Given the description of an element on the screen output the (x, y) to click on. 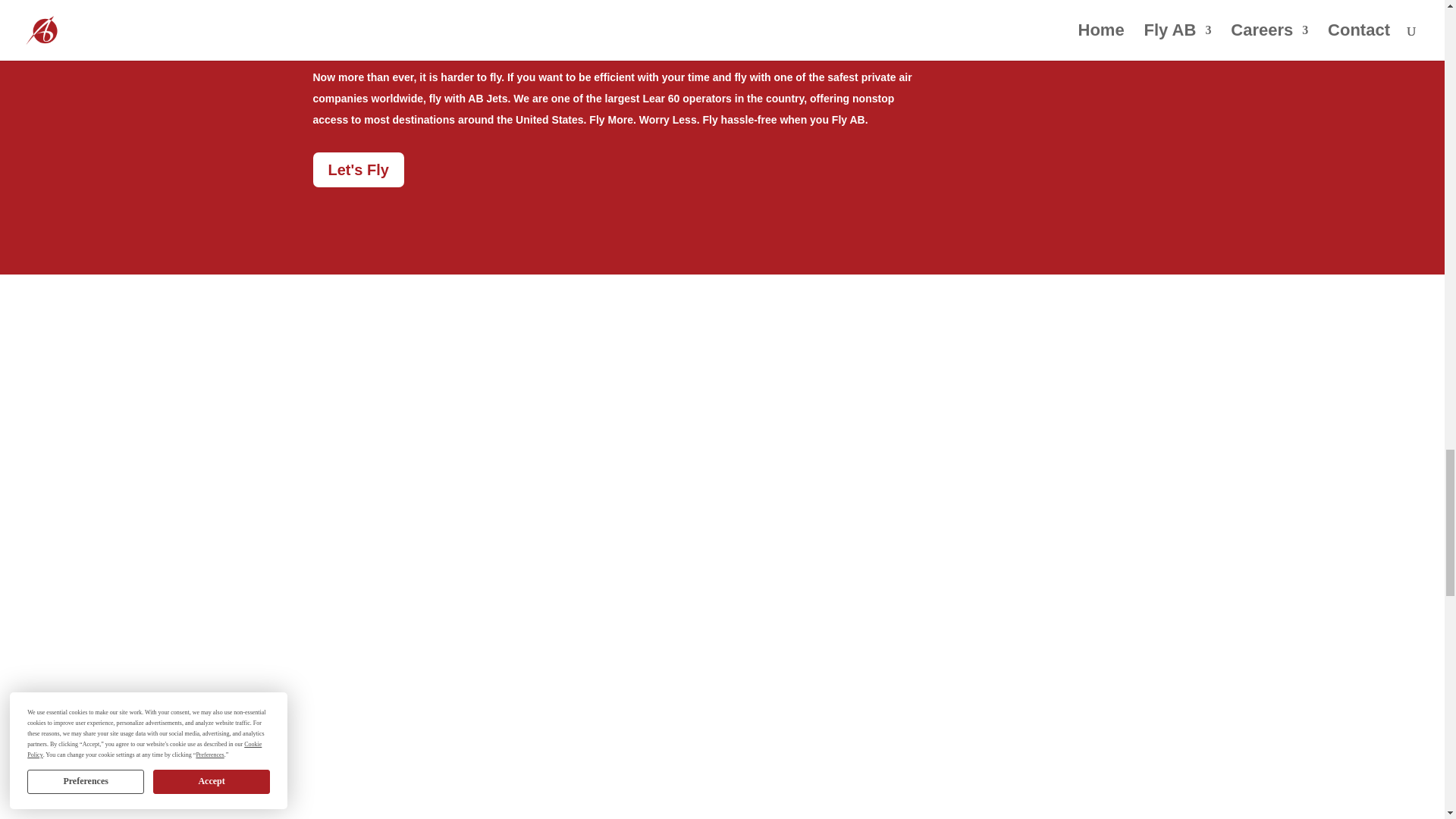
Let's Fly (358, 169)
